Given the description of an element on the screen output the (x, y) to click on. 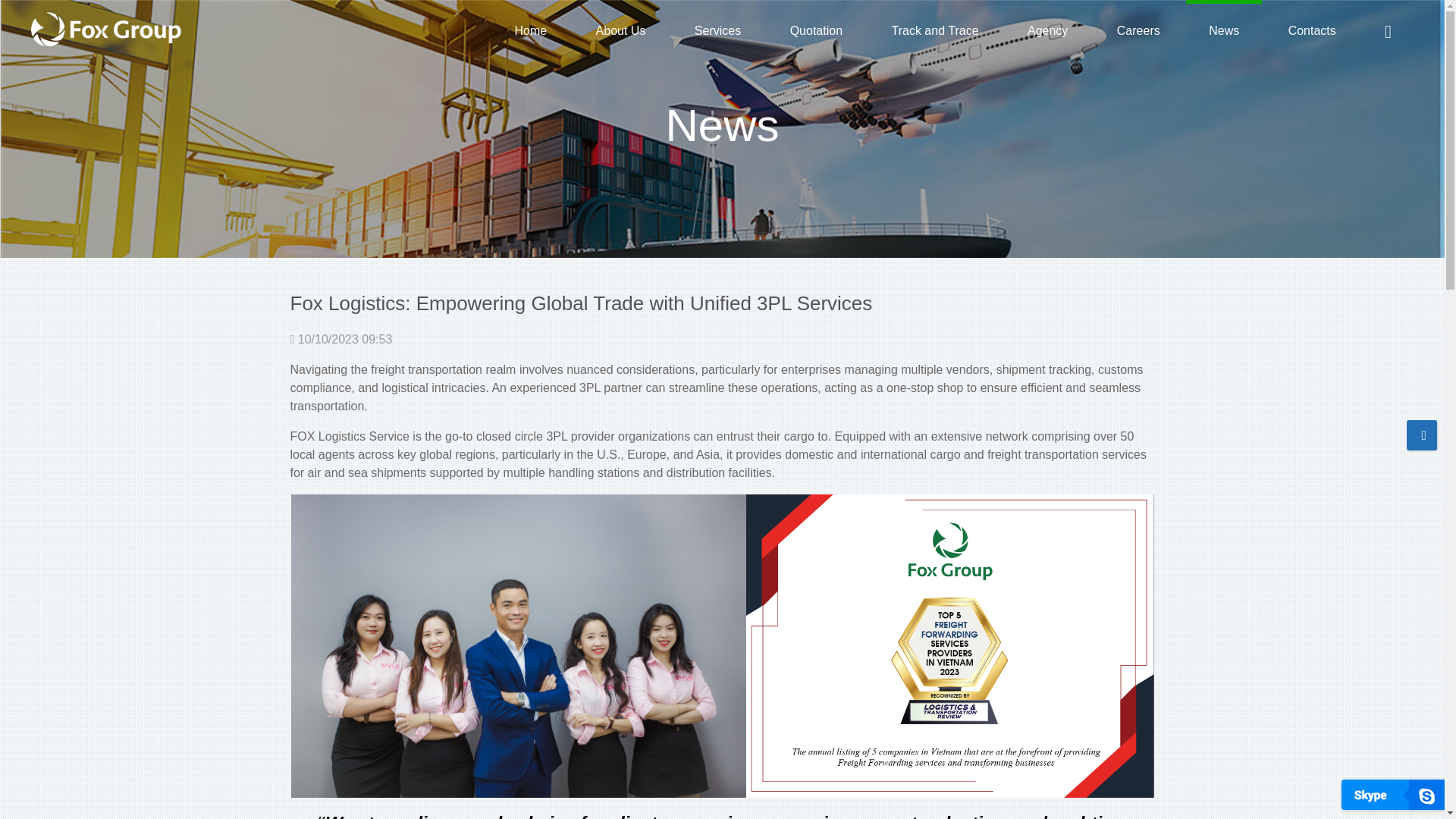
Agency (1047, 31)
News (1223, 31)
Home (530, 31)
Track and Trace (934, 31)
Agency (1047, 31)
About Us (620, 31)
Contacts (1312, 31)
Careers (1138, 31)
Services (717, 31)
Home (530, 31)
Track and Trace (934, 31)
Contacts (1312, 31)
Quotation (816, 31)
Careers (1138, 31)
Services (717, 31)
